Given the description of an element on the screen output the (x, y) to click on. 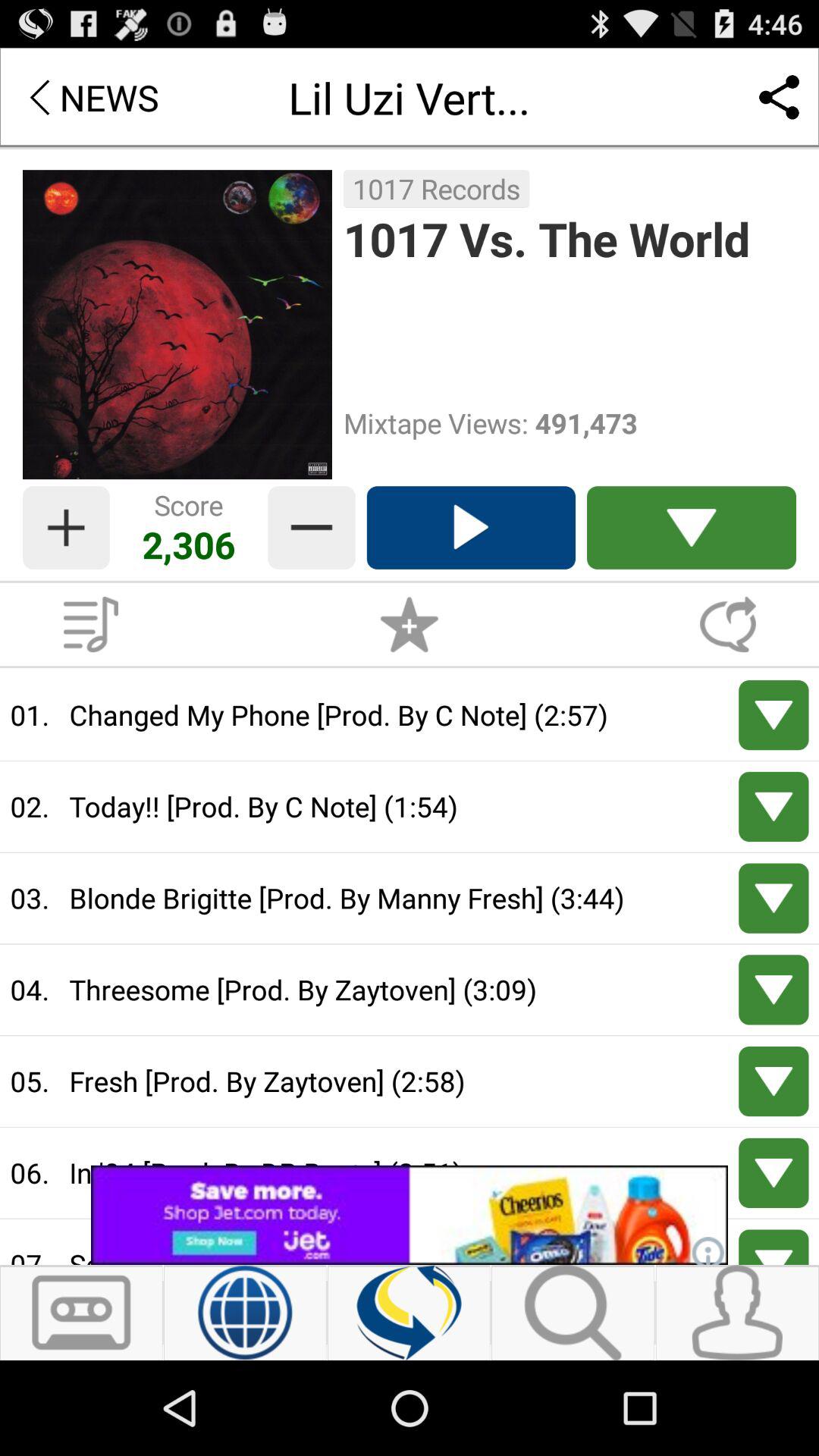
increase (65, 527)
